Given the description of an element on the screen output the (x, y) to click on. 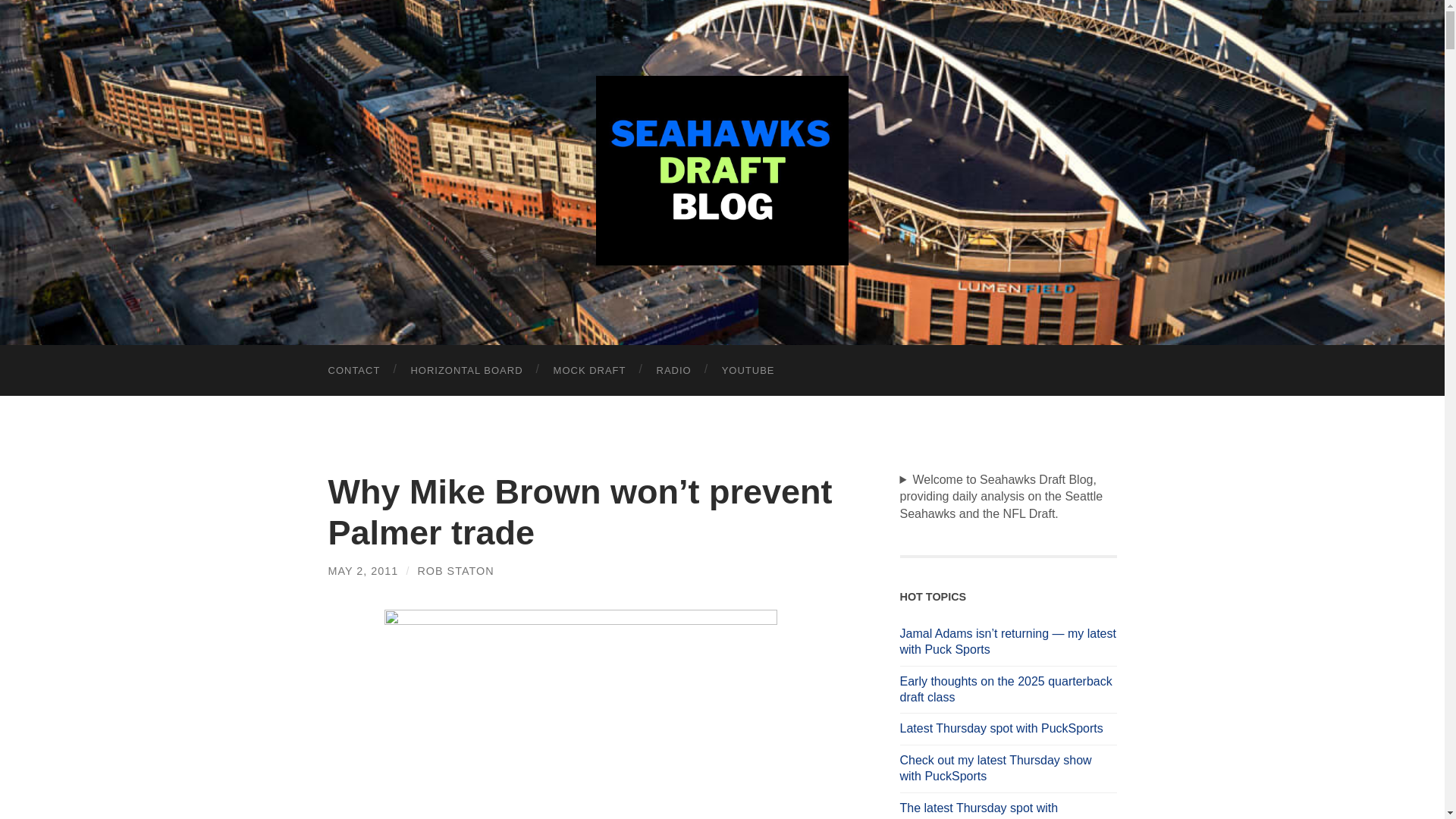
MOCK DRAFT (590, 369)
Andy Dalton (580, 713)
RADIO (674, 369)
CONTACT (353, 369)
ROB STATON (454, 571)
MAY 2, 2011 (362, 571)
Posts by Rob Staton (454, 571)
HORIZONTAL BOARD (465, 369)
Seahawks Draft Blog (721, 170)
YOUTUBE (748, 369)
